Given the description of an element on the screen output the (x, y) to click on. 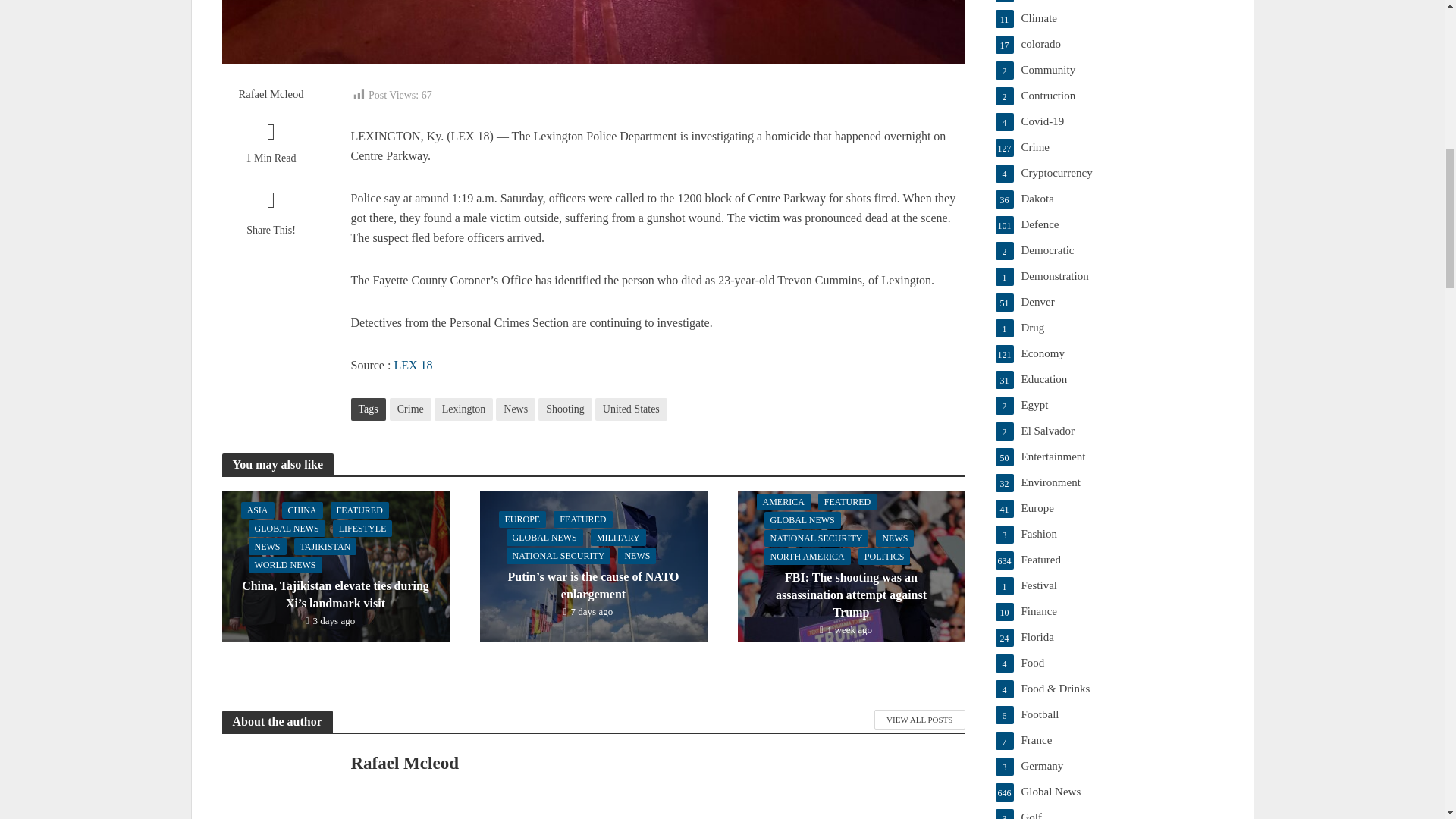
FBI: The shooting was an assassination attempt against Trump (849, 564)
Featured posts (1108, 559)
